Given the description of an element on the screen output the (x, y) to click on. 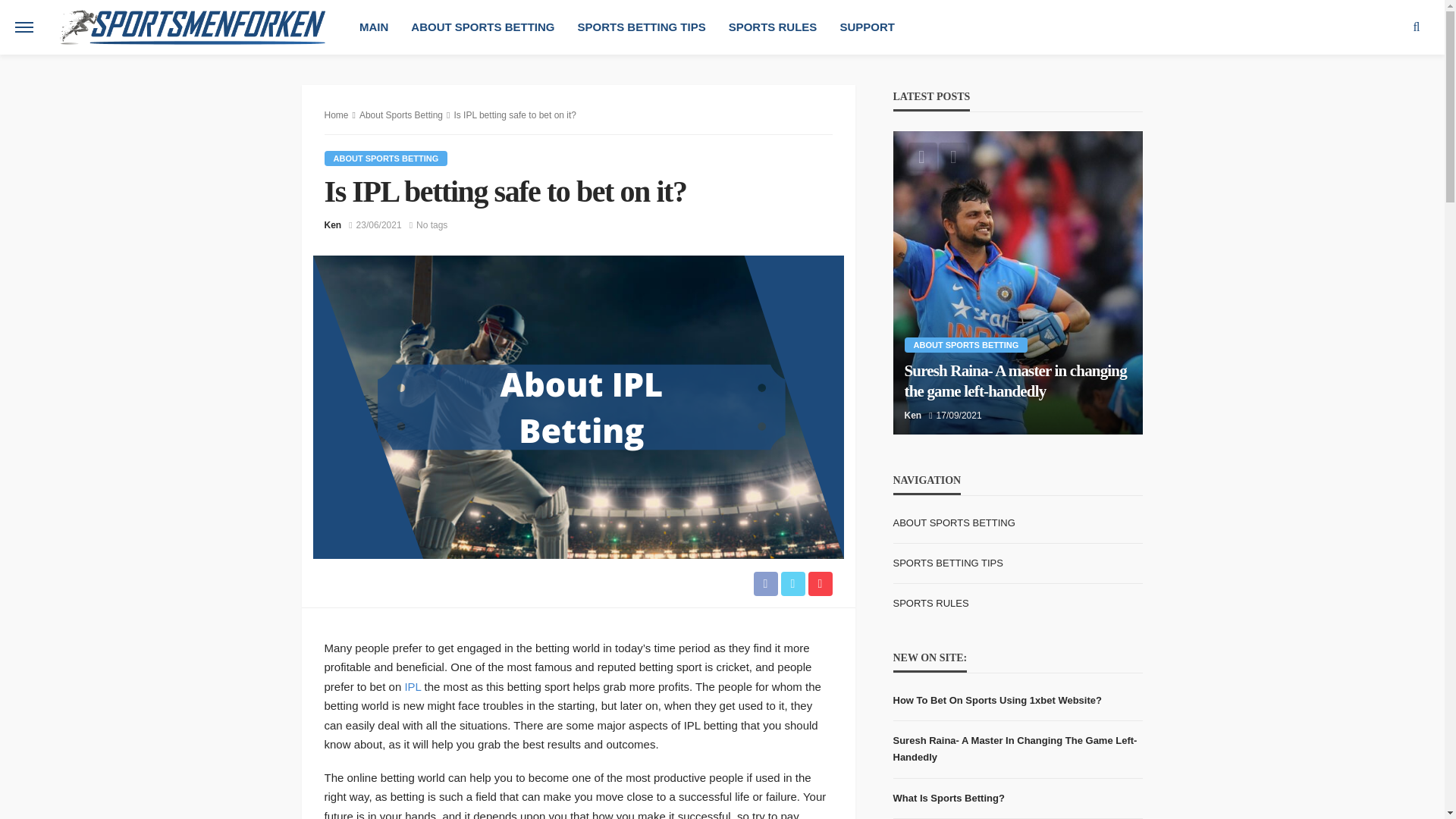
SUPPORT (866, 27)
Ken (333, 224)
SPORTS BETTING TIPS (641, 27)
ABOUT SPORTS BETTING (482, 27)
About Sports Betting (400, 114)
Home (336, 114)
MAIN (372, 27)
SPORTS RULES (772, 27)
ABOUT SPORTS BETTING (386, 158)
IPL (412, 686)
SportsmenForken (191, 27)
About Sports Betting (386, 158)
